Given the description of an element on the screen output the (x, y) to click on. 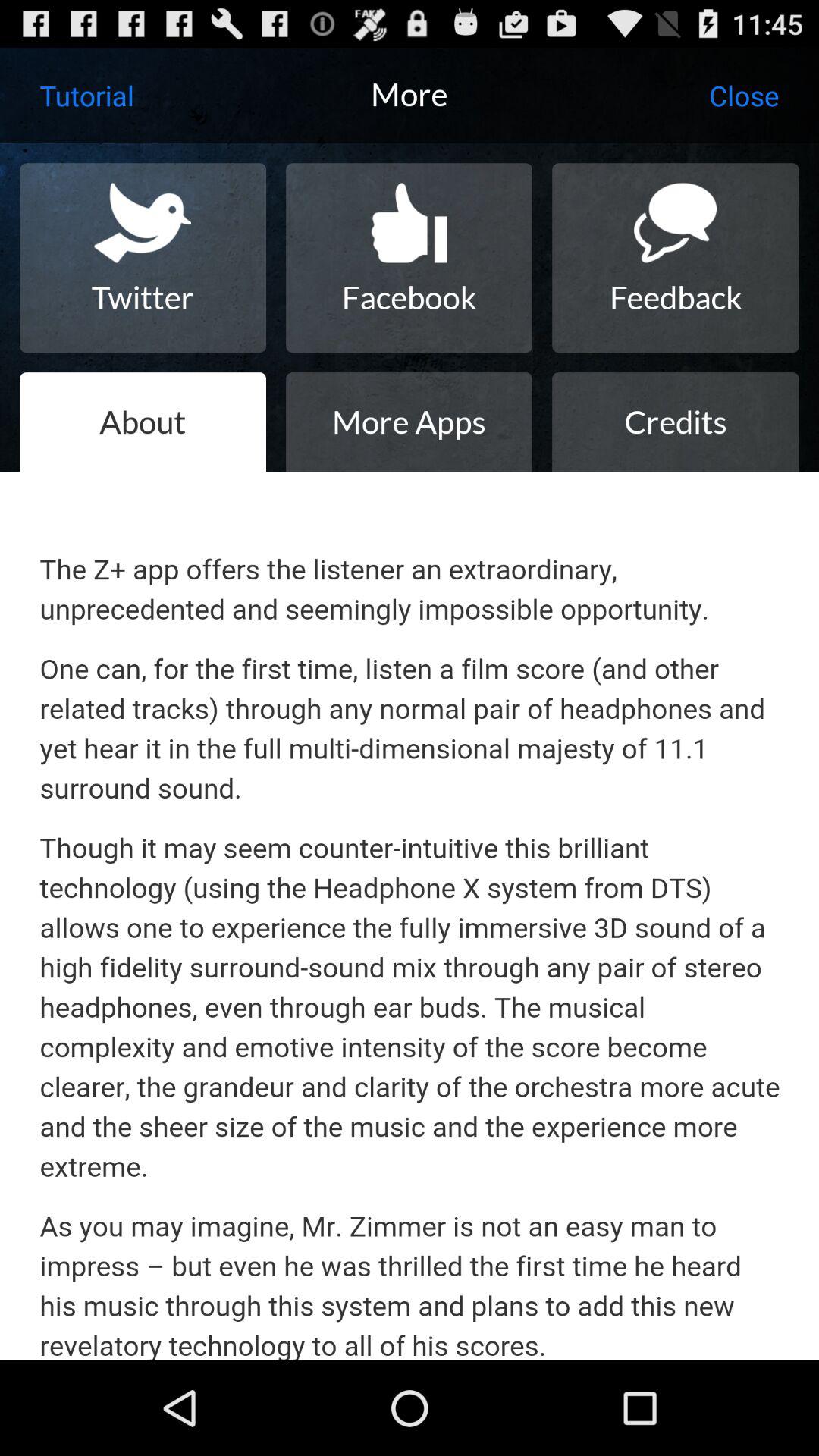
read this information (409, 916)
